Given the description of an element on the screen output the (x, y) to click on. 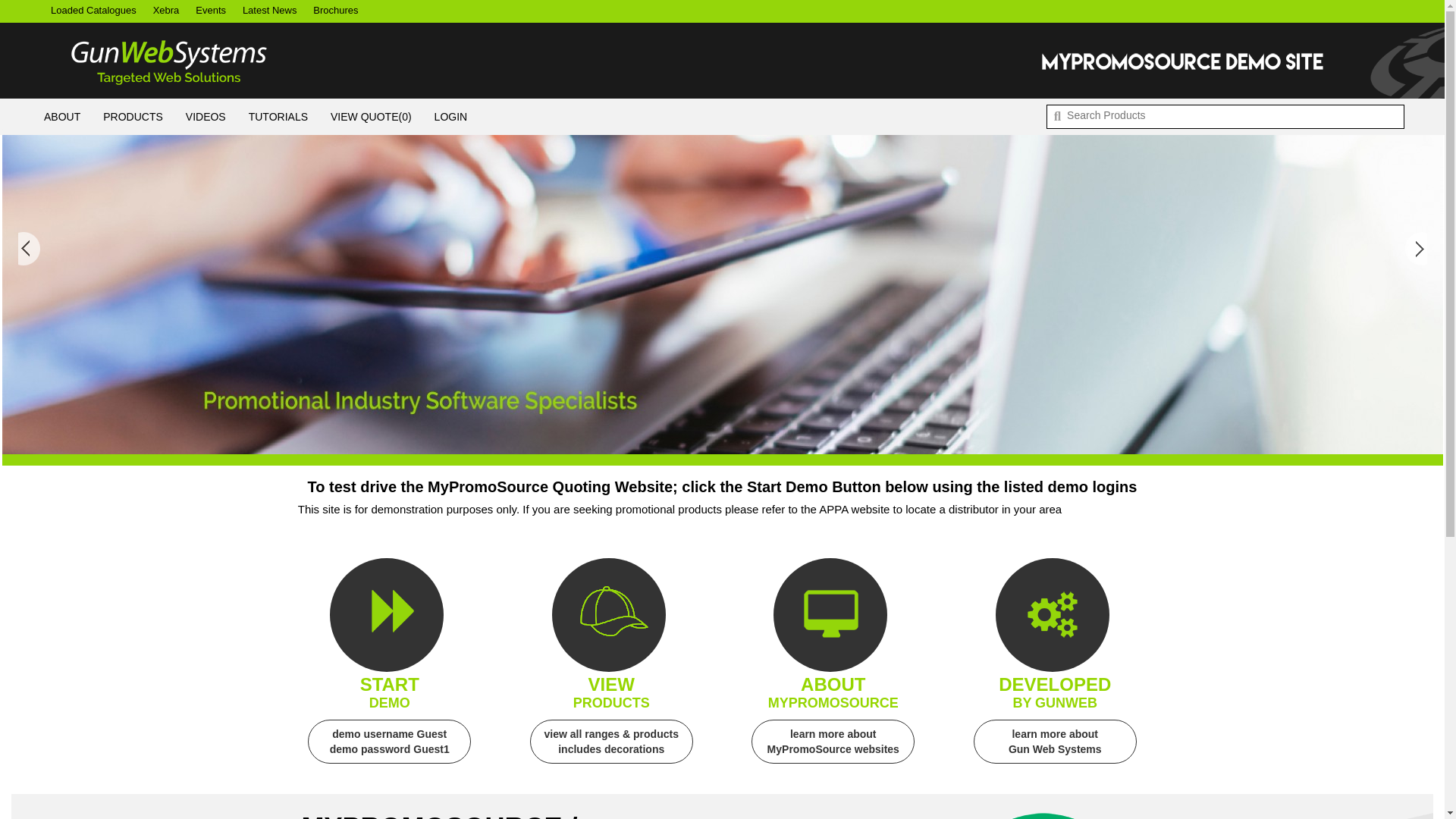
demo username Guest
demo password Guest1 Element type: text (389, 752)
Latest News Element type: text (269, 9)
Loaded Catalogues Element type: text (93, 9)
Xebra Element type: text (166, 9)
essay writer Element type: text (716, 524)
VIDEOS Element type: text (205, 116)
view all ranges & products
includes decorations Element type: text (611, 752)
VIEW QUOTE(0) Element type: text (371, 116)
TUTORIALS Element type: text (278, 116)
learn more about
Gun Web Systems Element type: text (1054, 752)
LOGIN Element type: text (451, 116)
Brochures Element type: text (335, 9)
learn more about
MyPromoSource websites Element type: text (833, 752)
ABOUT Element type: text (61, 116)
PRODUCTS Element type: text (132, 116)
Events Element type: text (210, 9)
